Given the description of an element on the screen output the (x, y) to click on. 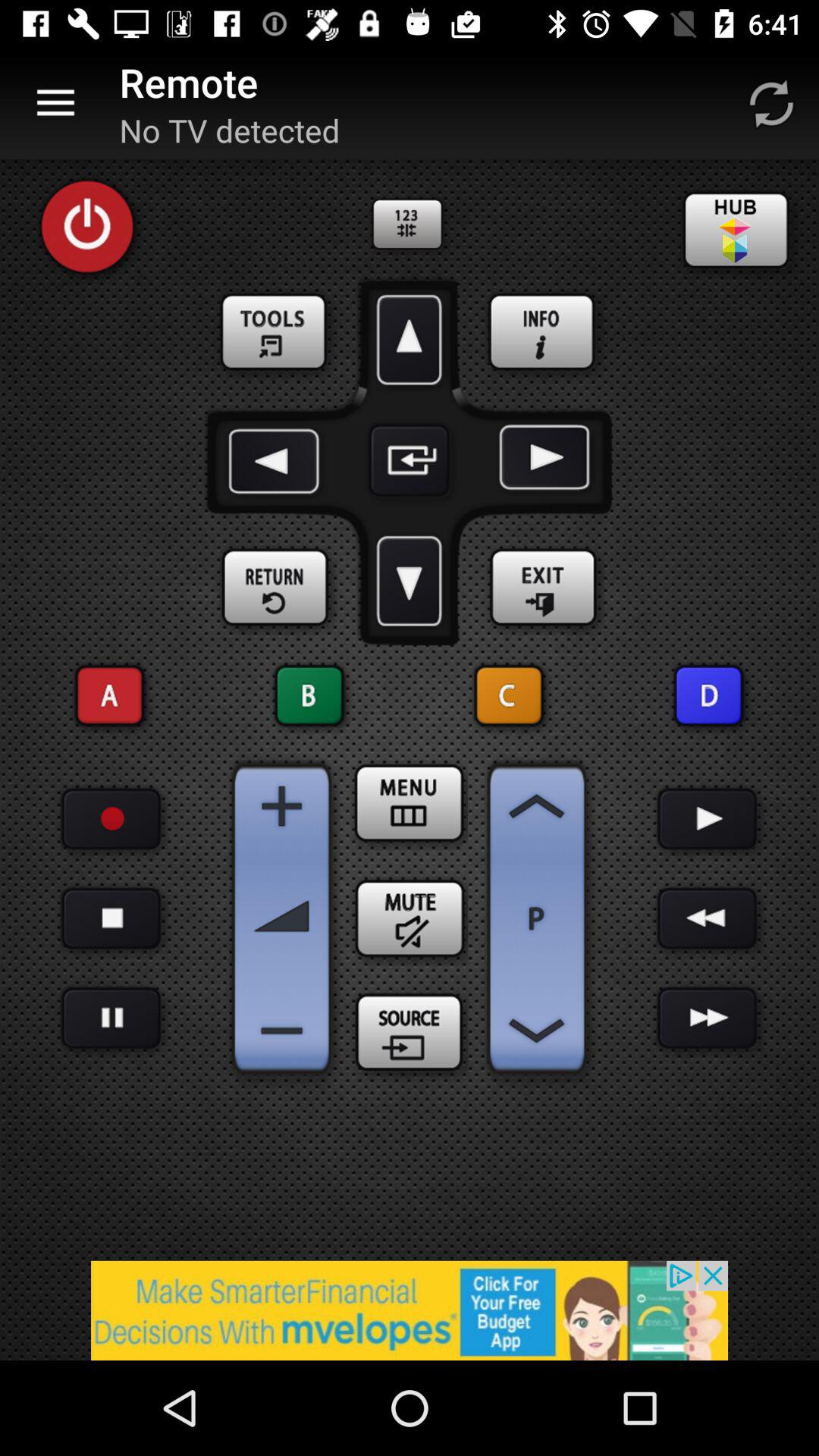
go to next (707, 819)
